Given the description of an element on the screen output the (x, y) to click on. 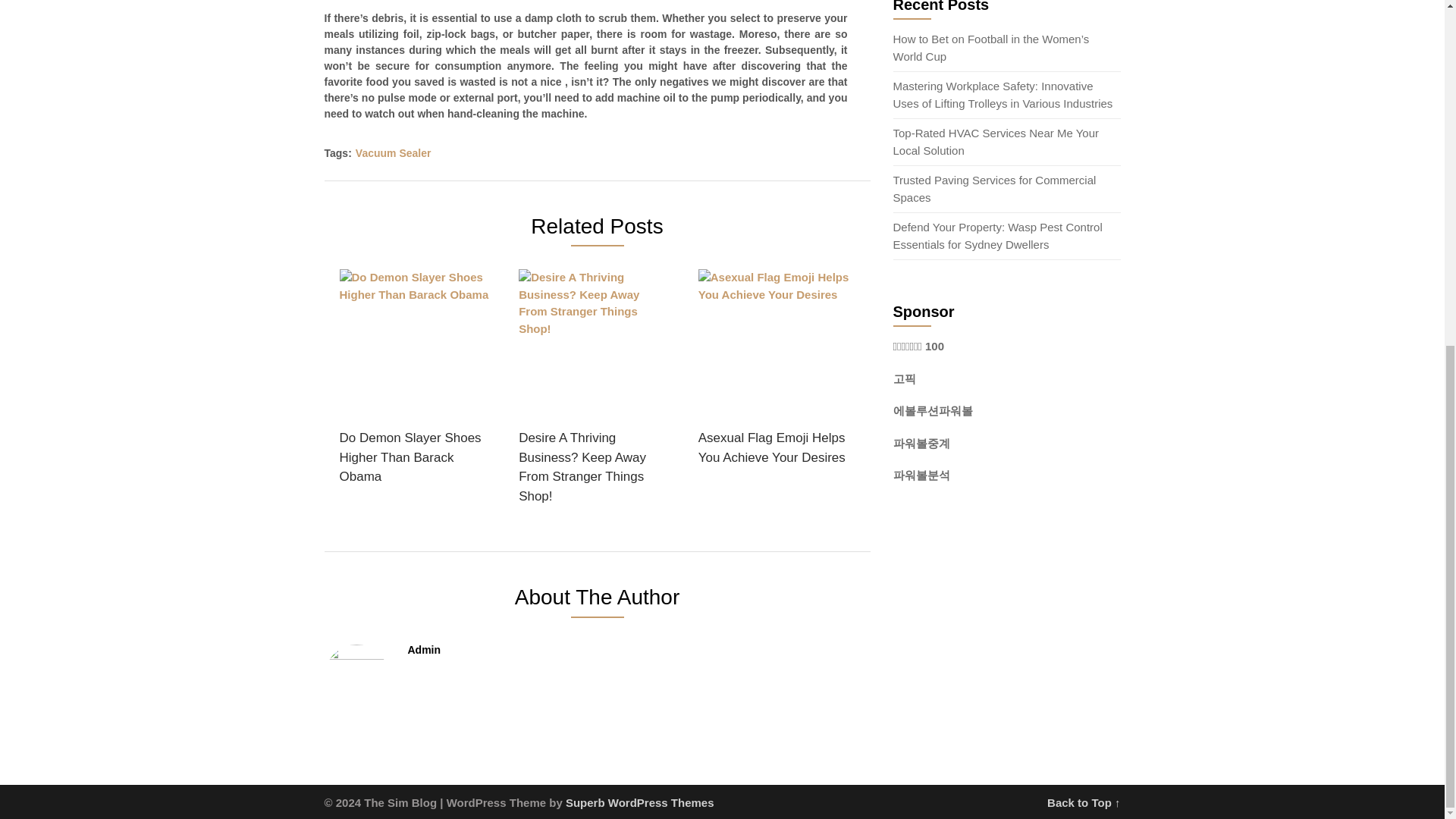
Vacuum Sealer (392, 152)
Trusted Paving Services for Commercial Spaces (994, 188)
Superb WordPress Themes (640, 802)
Top-Rated HVAC Services Near Me Your Local Solution (996, 141)
